Given the description of an element on the screen output the (x, y) to click on. 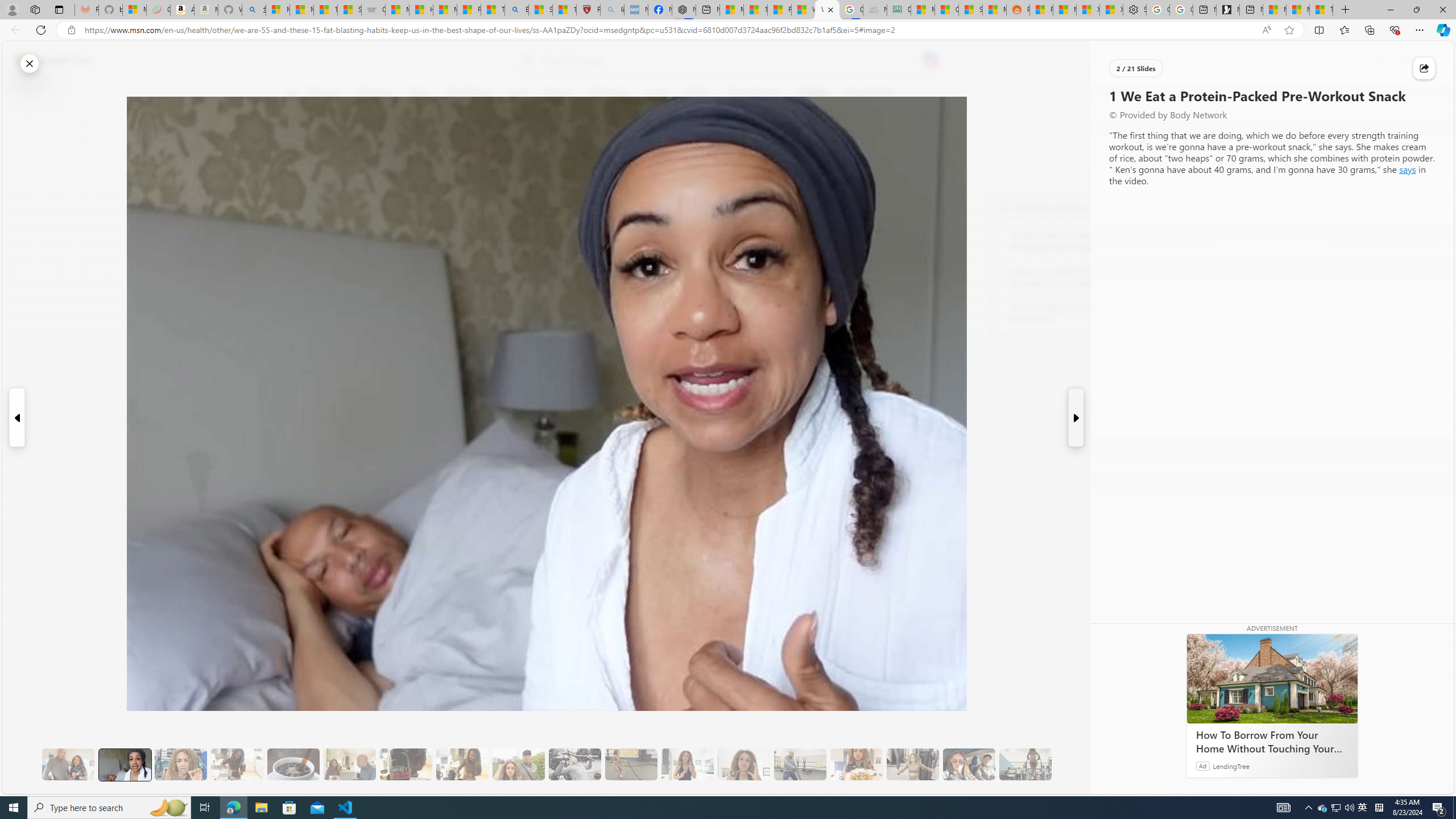
LendingTree (1231, 765)
Class: button-glyph (292, 92)
8 Be Mindful of Coffee (293, 764)
Science (558, 92)
15 They Also Indulge in a Low-Calorie Sweet Treat (912, 764)
8 Reasons to Drink Kombucha, According to a Nutritionist (1071, 277)
Skip to footer (46, 59)
